Given the description of an element on the screen output the (x, y) to click on. 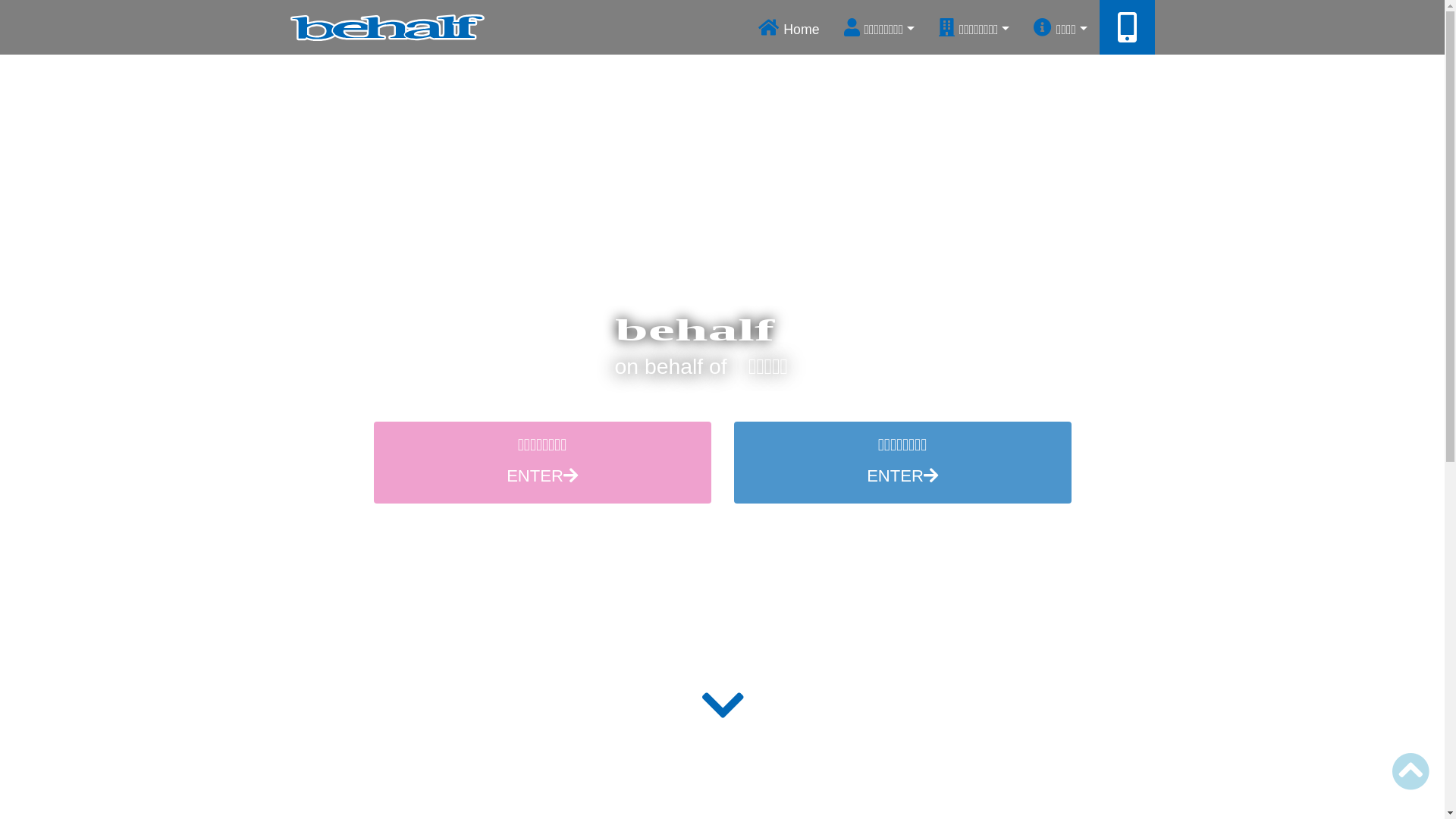
Home
(current) Element type: text (788, 27)
